Given the description of an element on the screen output the (x, y) to click on. 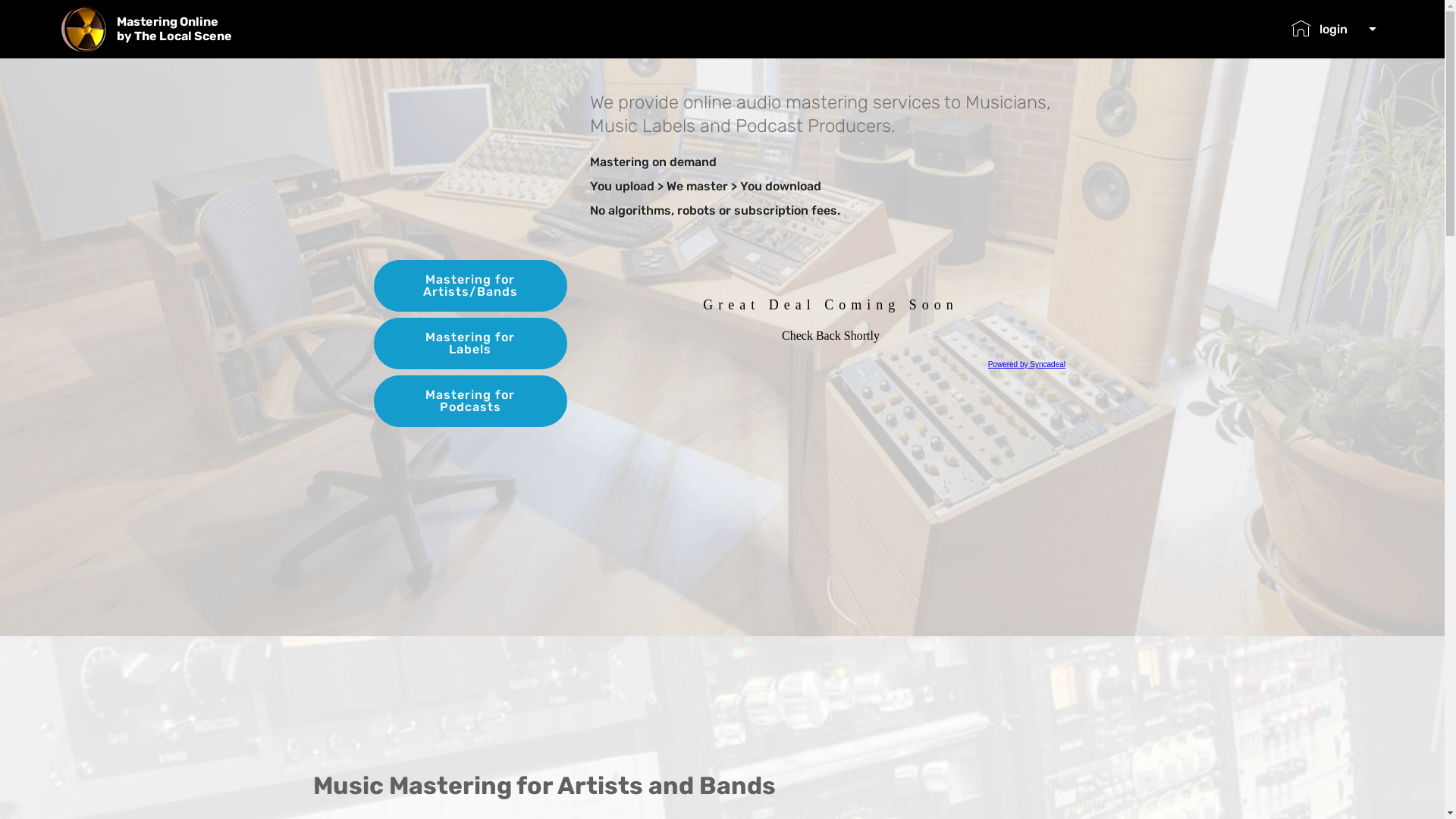
Mastering for Labels Element type: text (469, 343)
login       Element type: text (1333, 28)
Mastering for Artists/Bands Element type: text (469, 285)
Mastering for Podcasts Element type: text (469, 400)
Mastering Online
by The Local Scene Element type: text (186, 28)
